Given the description of an element on the screen output the (x, y) to click on. 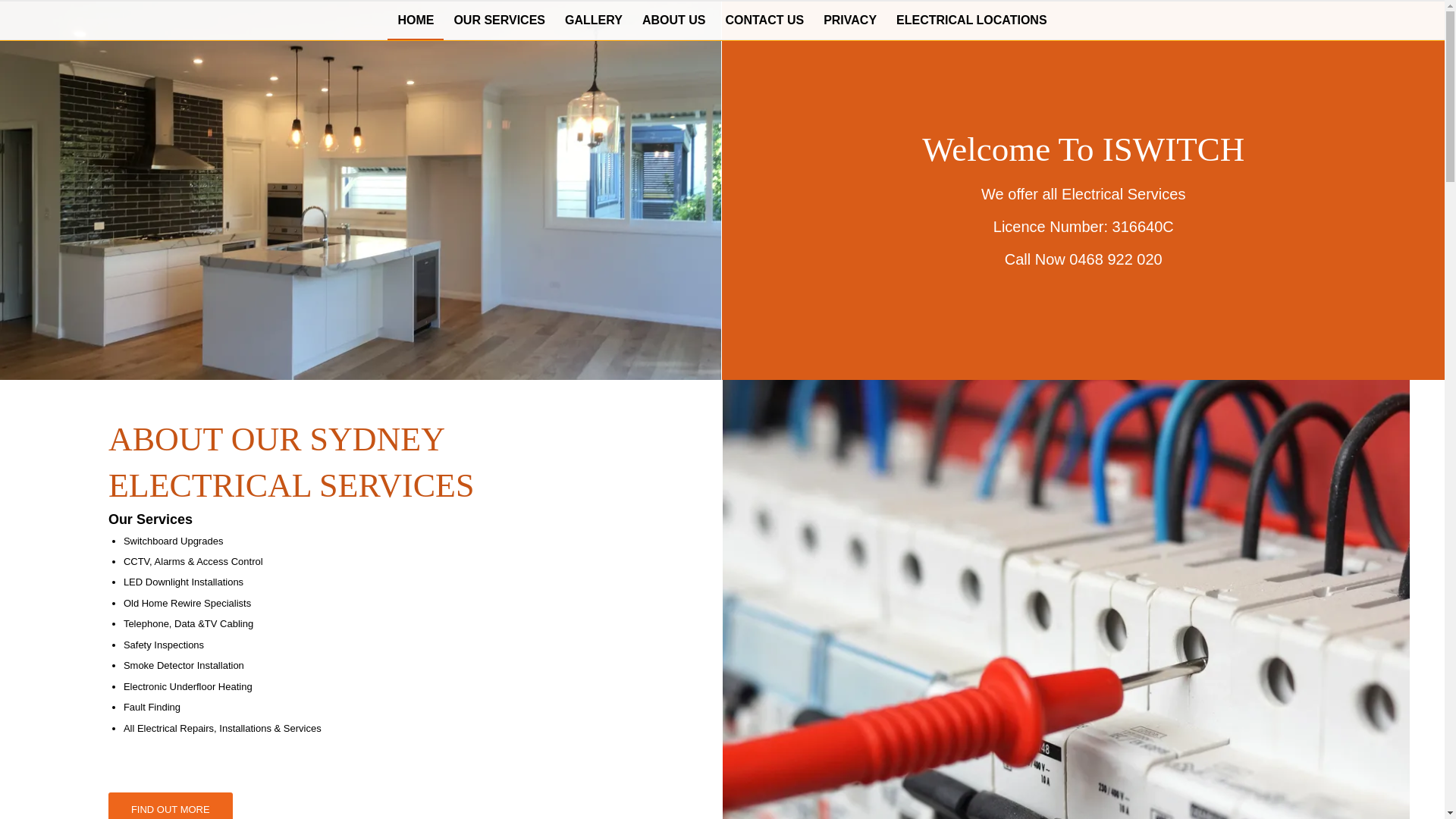
ELECTRICAL LOCATIONS Element type: text (971, 20)
ABOUT US Element type: text (673, 20)
GALLERY Element type: text (593, 20)
CONTACT US Element type: text (764, 20)
PRIVACY Element type: text (849, 20)
HOME Element type: text (415, 20)
OUR SERVICES Element type: text (499, 20)
